Given the description of an element on the screen output the (x, y) to click on. 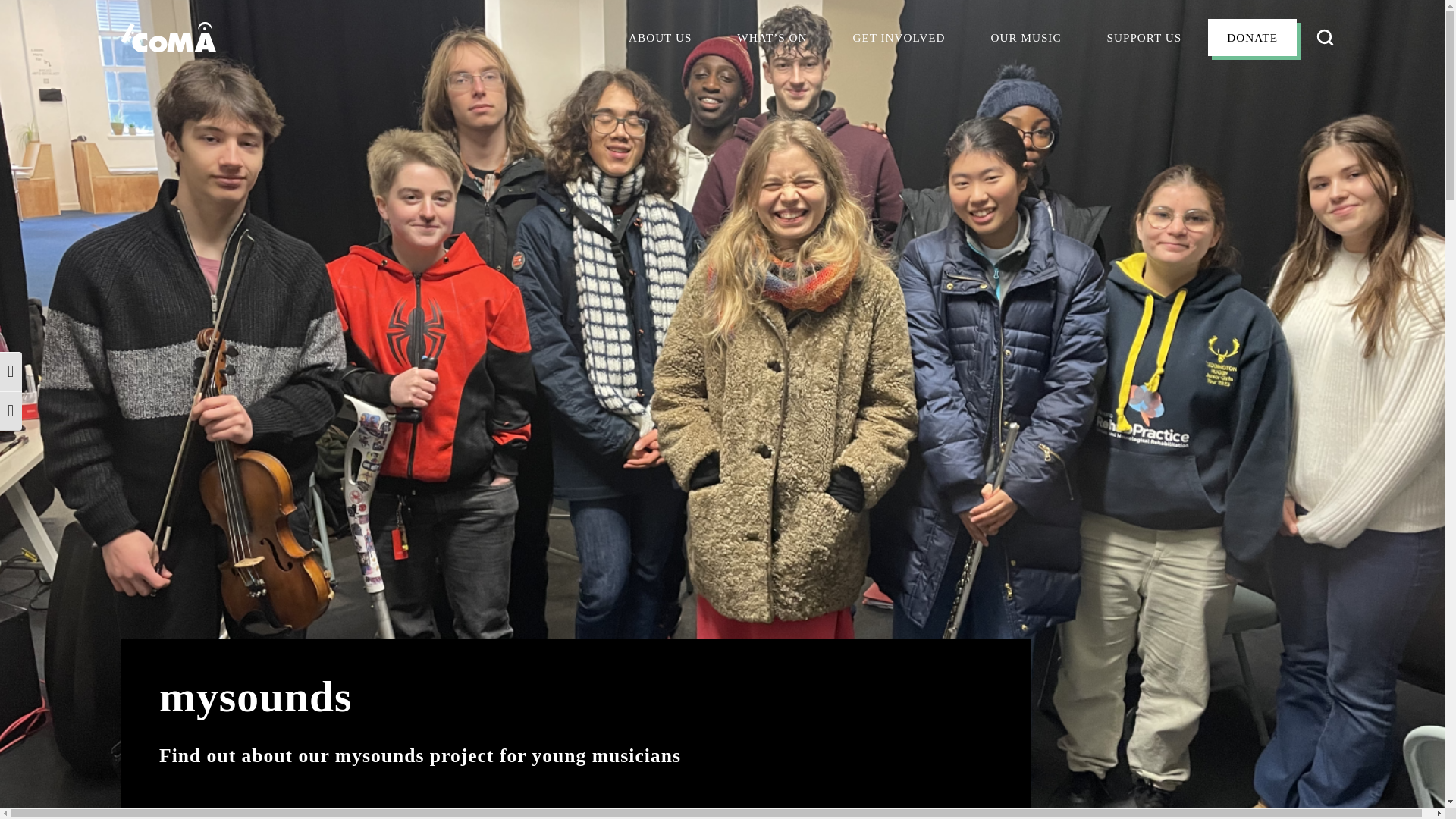
COMPOSERS (1026, 133)
GET INVOLVED (897, 37)
DONATE (1252, 37)
POLICIES (655, 186)
OUR RESOURCES (678, 133)
SEARCH OUR CATALOGUE (1066, 99)
PUBLICATIONS (1034, 116)
CoMA Festival 2024! (800, 130)
CoMA Summer School 2025 (807, 105)
COMA FESTIVAL 2024! (800, 130)
Our team (659, 116)
Policies (655, 186)
Contact us (665, 168)
About us (659, 37)
OUR IMPACT (664, 99)
